Given the description of an element on the screen output the (x, y) to click on. 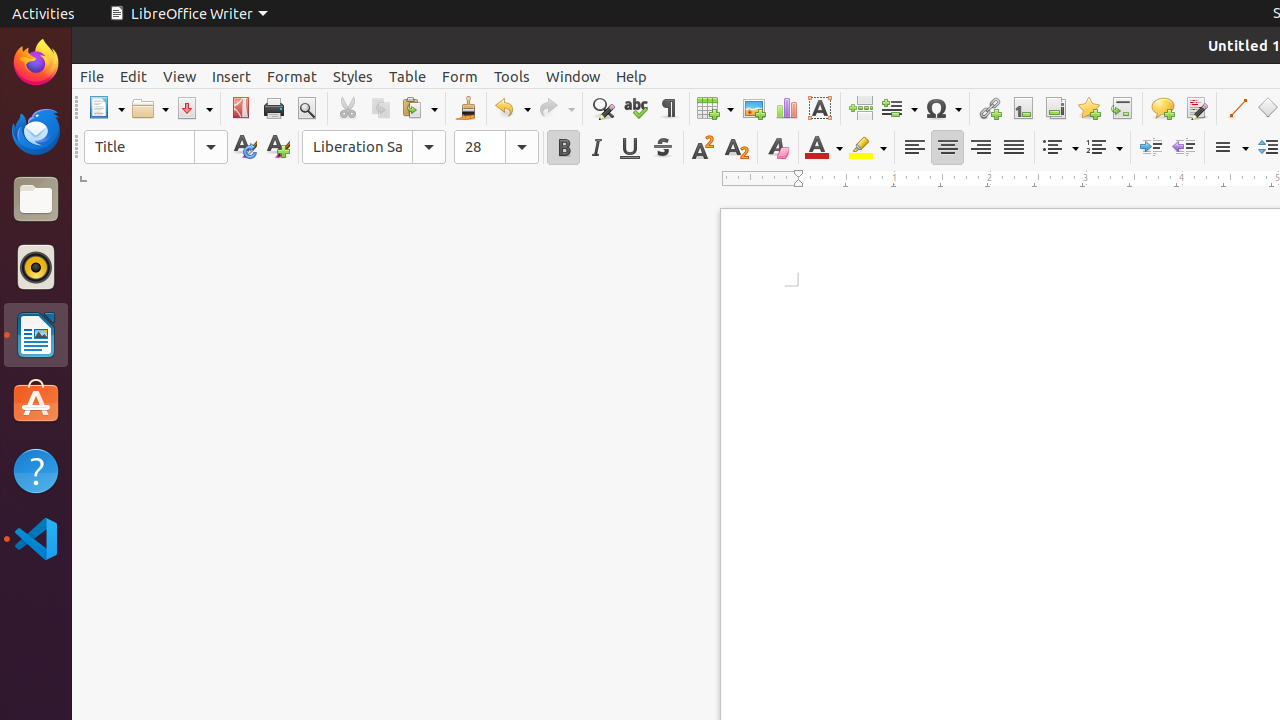
Cut Element type: push-button (347, 108)
Numbering Element type: push-button (1104, 147)
Redo Element type: push-button (556, 108)
Bold Element type: toggle-button (563, 147)
Insert Element type: menu (231, 76)
